Given the description of an element on the screen output the (x, y) to click on. 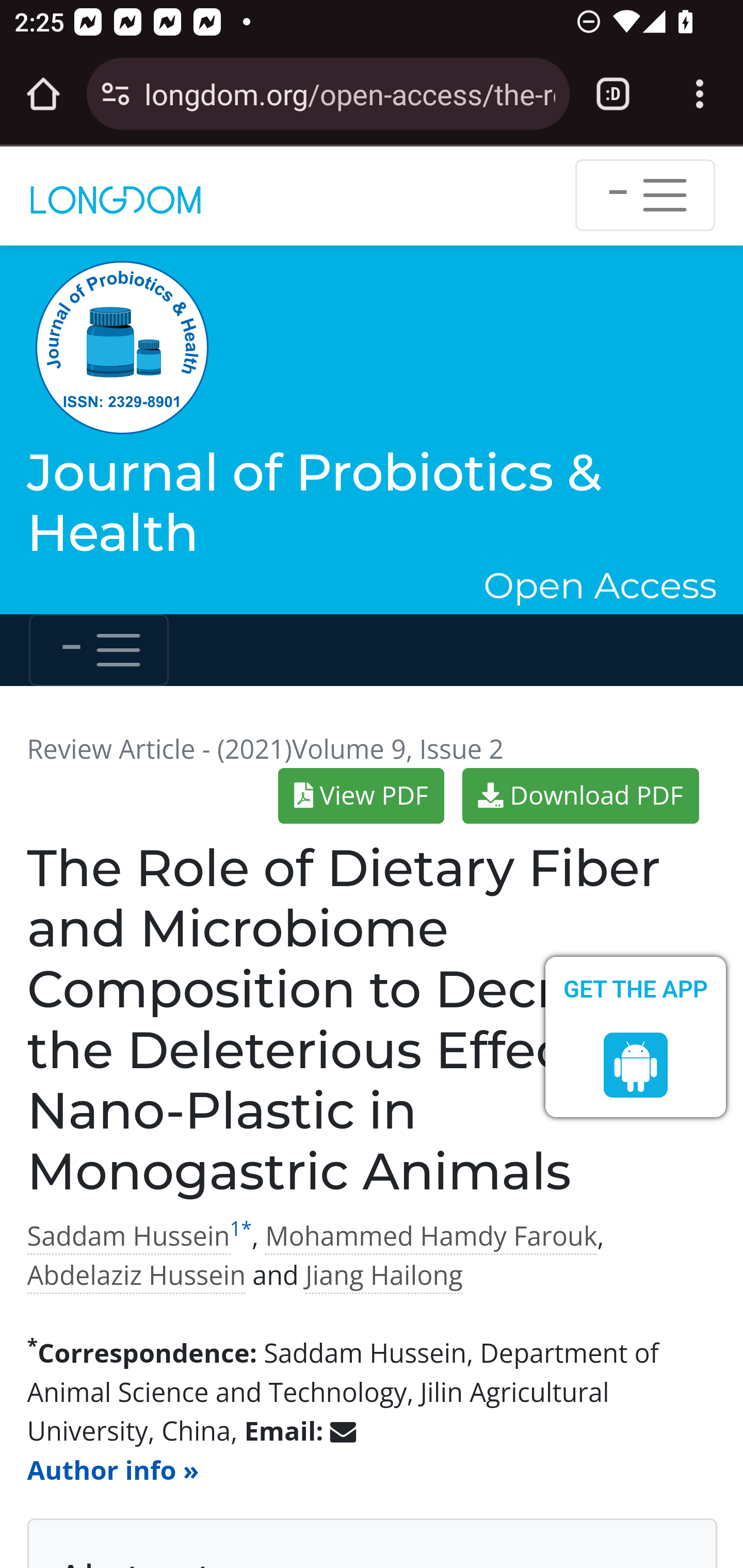
Open the home page (43, 93)
Connection is secure (115, 93)
Switch or close tabs (612, 93)
Customize and control Google Chrome (699, 93)
Longdom Publishing S.L (115, 195)
Toggle navigation (645, 195)
Toggle navigation (98, 649)
 View PDF   View PDF (361, 795)
 Download PDF   Download PDF (579, 795)
 (636, 1065)
Saddam Hussein (128, 1235)
Mohammed Hamdy Farouk (430, 1235)
Abdelaziz Hussein (136, 1274)
Jiang Hailong (383, 1274)
Author info » (112, 1470)
